Given the description of an element on the screen output the (x, y) to click on. 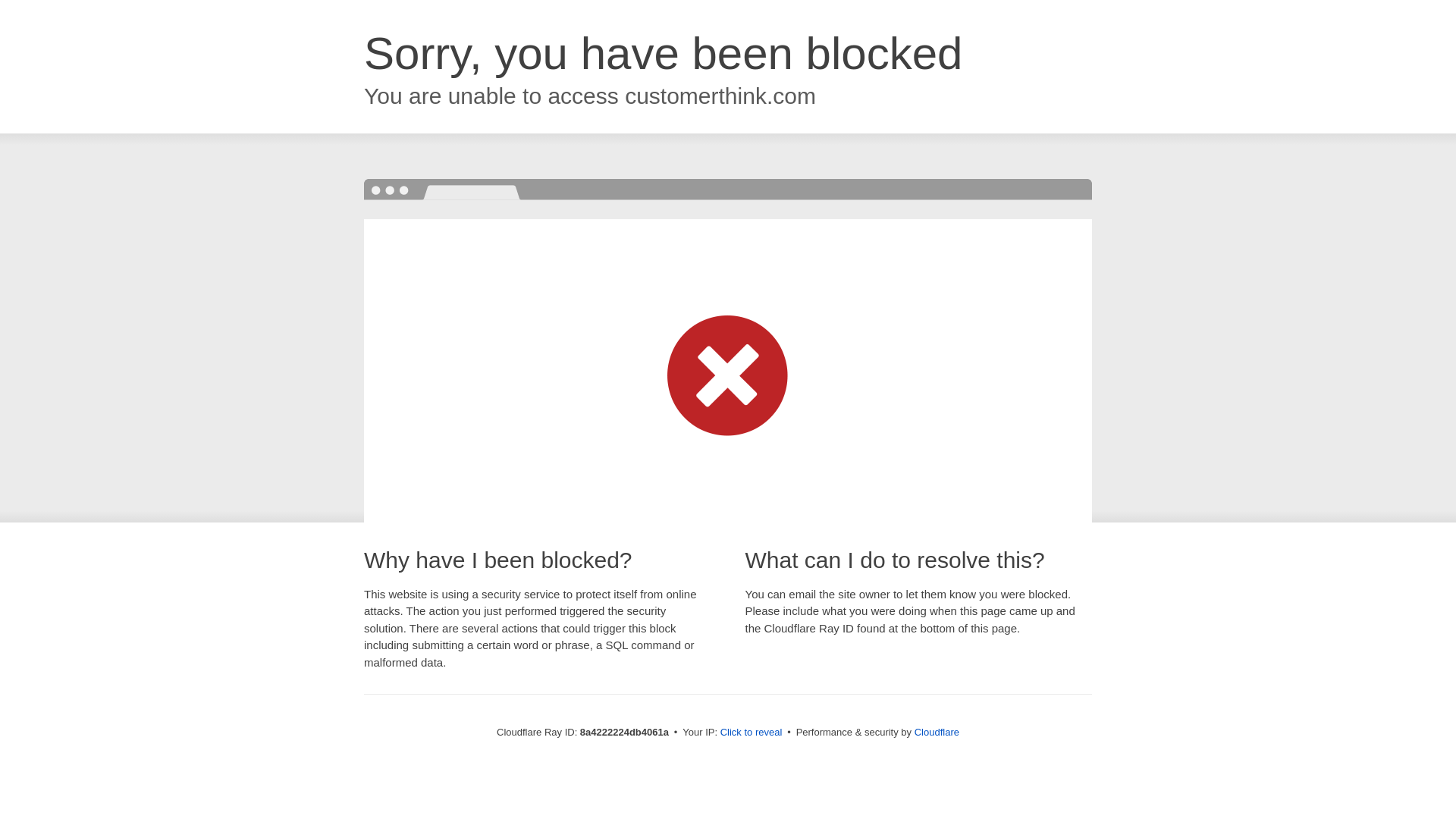
Cloudflare (936, 731)
Click to reveal (751, 732)
